Given the description of an element on the screen output the (x, y) to click on. 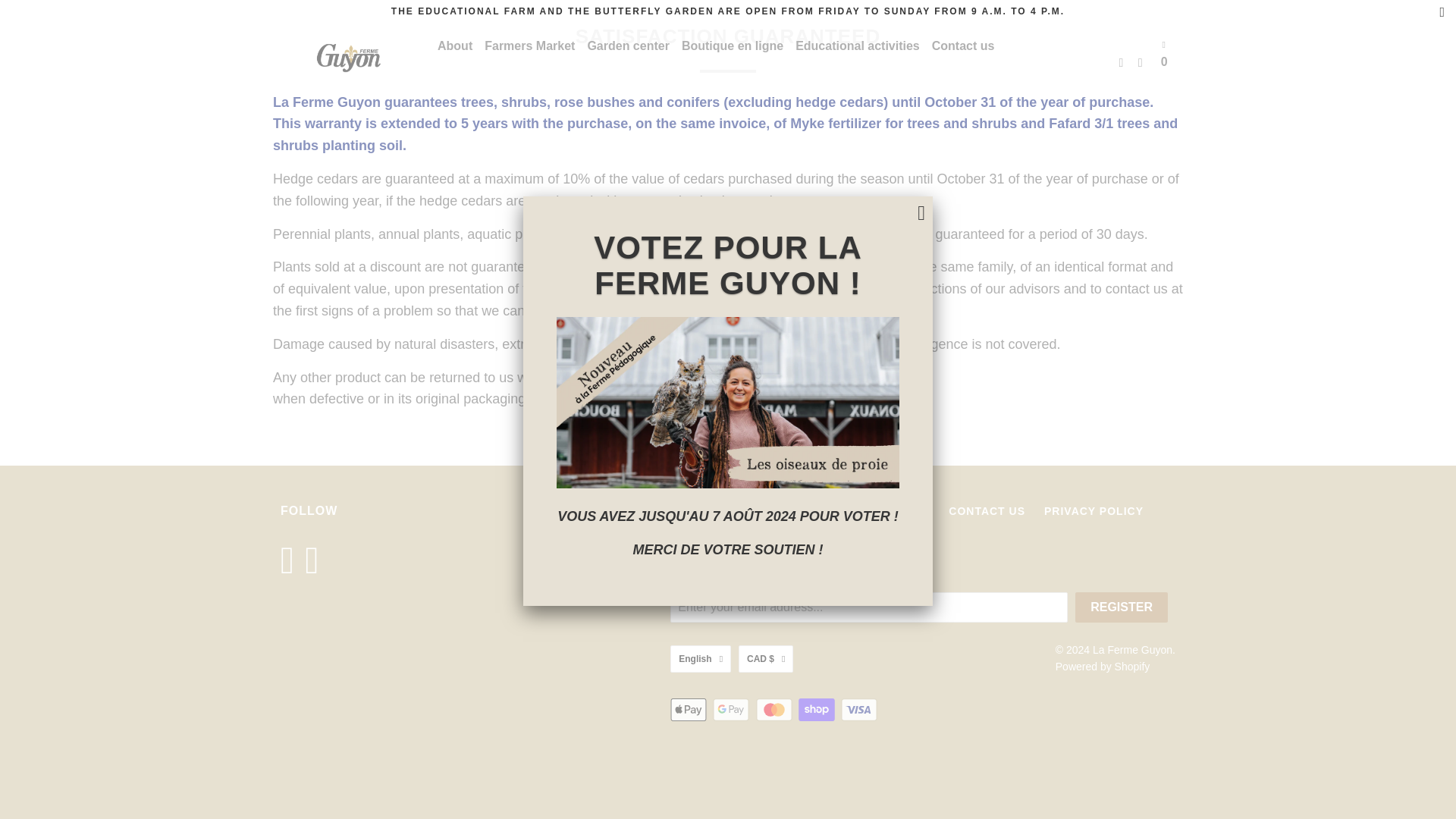
Garden center (627, 45)
Mastercard (774, 709)
Google Pay (732, 709)
About (454, 45)
Shop Pay (817, 709)
Visa (860, 709)
La Ferme Guyon (348, 57)
Apple Pay (689, 709)
Farmers Market (529, 45)
Register (1121, 607)
